Given the description of an element on the screen output the (x, y) to click on. 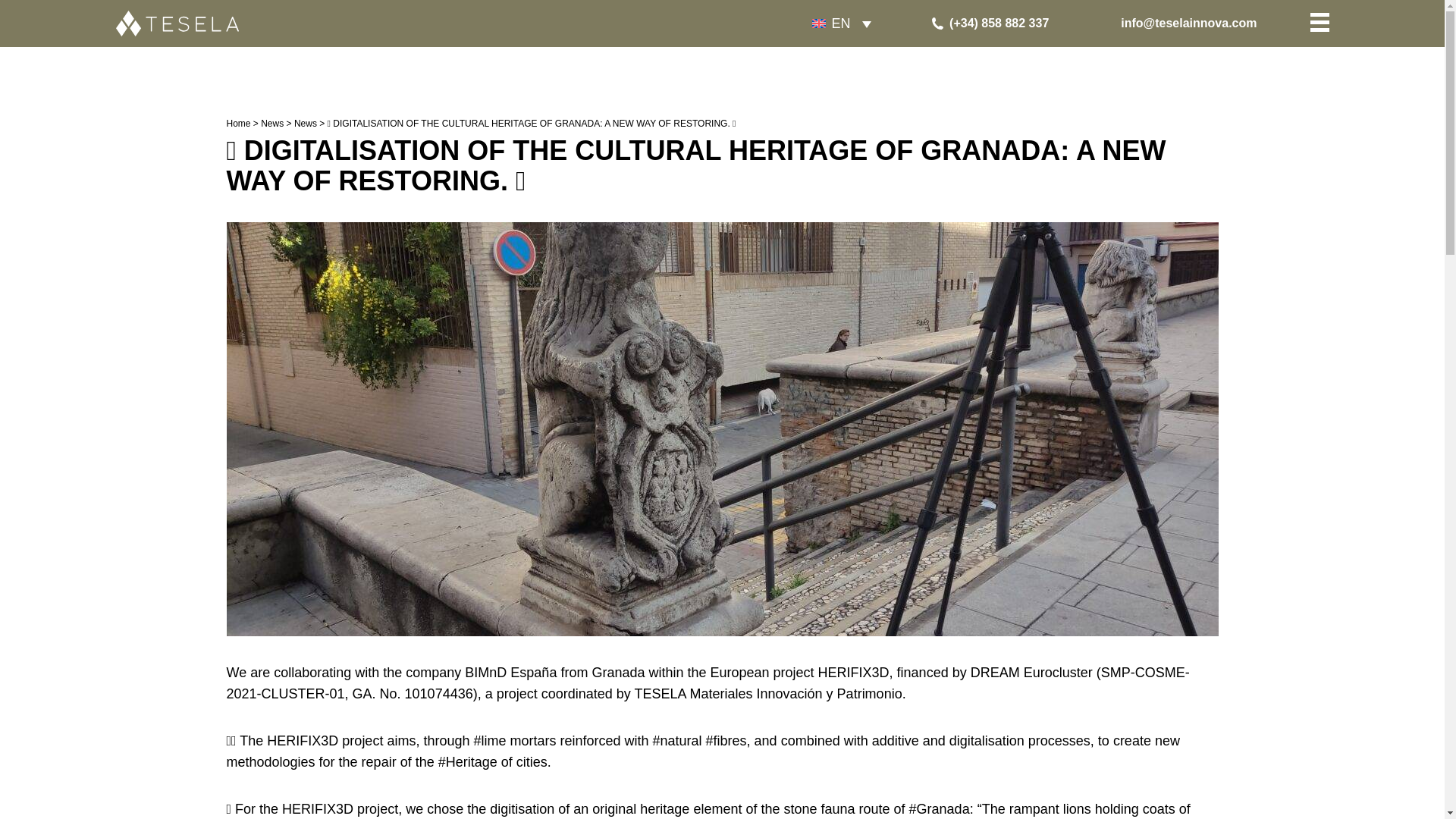
Home (237, 122)
News (271, 122)
News (305, 122)
EN (841, 23)
